Given the description of an element on the screen output the (x, y) to click on. 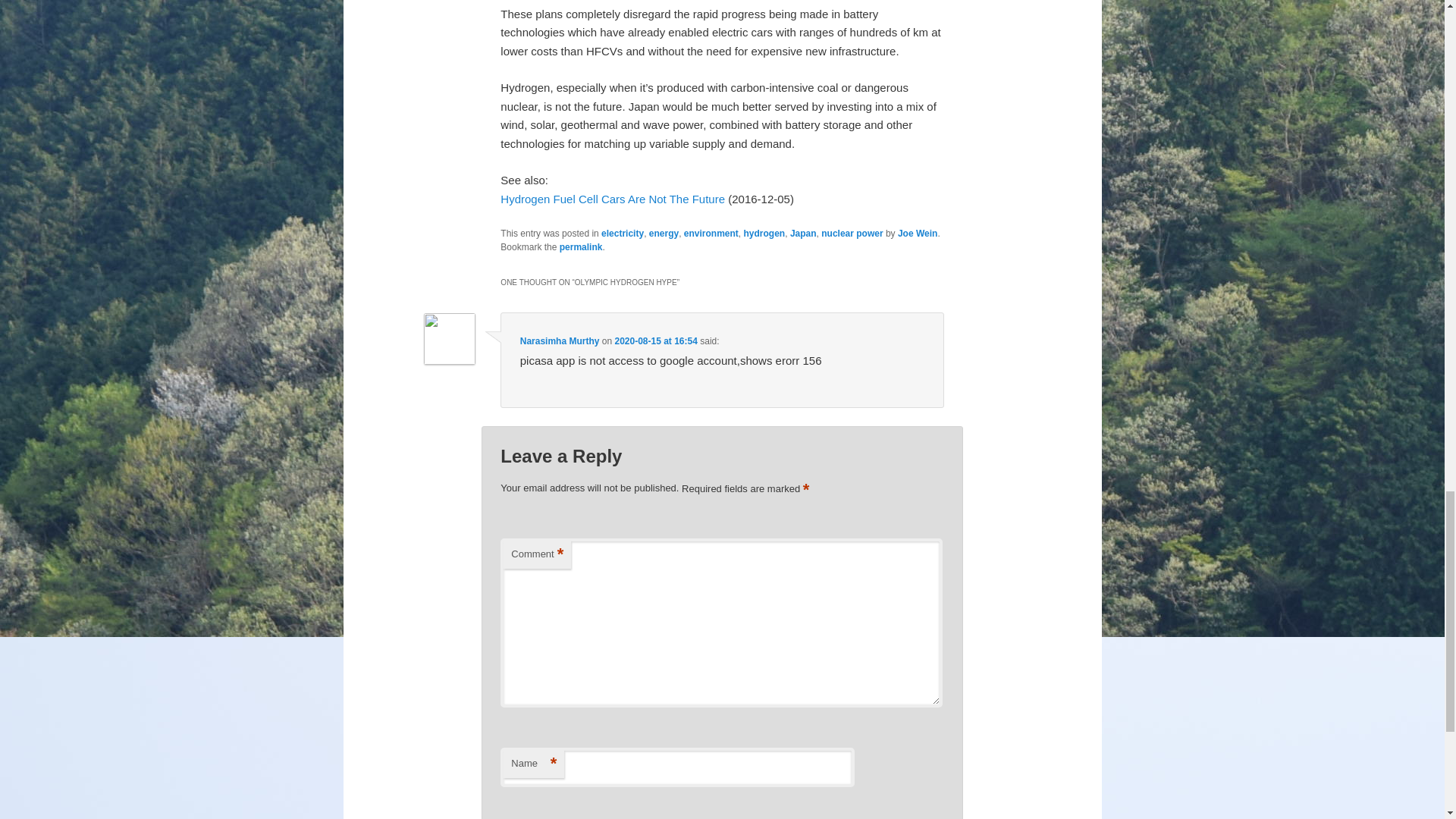
Narasimha Murthy (559, 340)
Hydrogen Fuel Cell Cars Are Not The Future (612, 198)
2020-08-15 at 16:54 (655, 340)
permalink (580, 246)
electricity (622, 233)
nuclear power (851, 233)
energy (663, 233)
Joe Wein (917, 233)
environment (711, 233)
Permalink to Olympic Hydrogen Hype (580, 246)
